Given the description of an element on the screen output the (x, y) to click on. 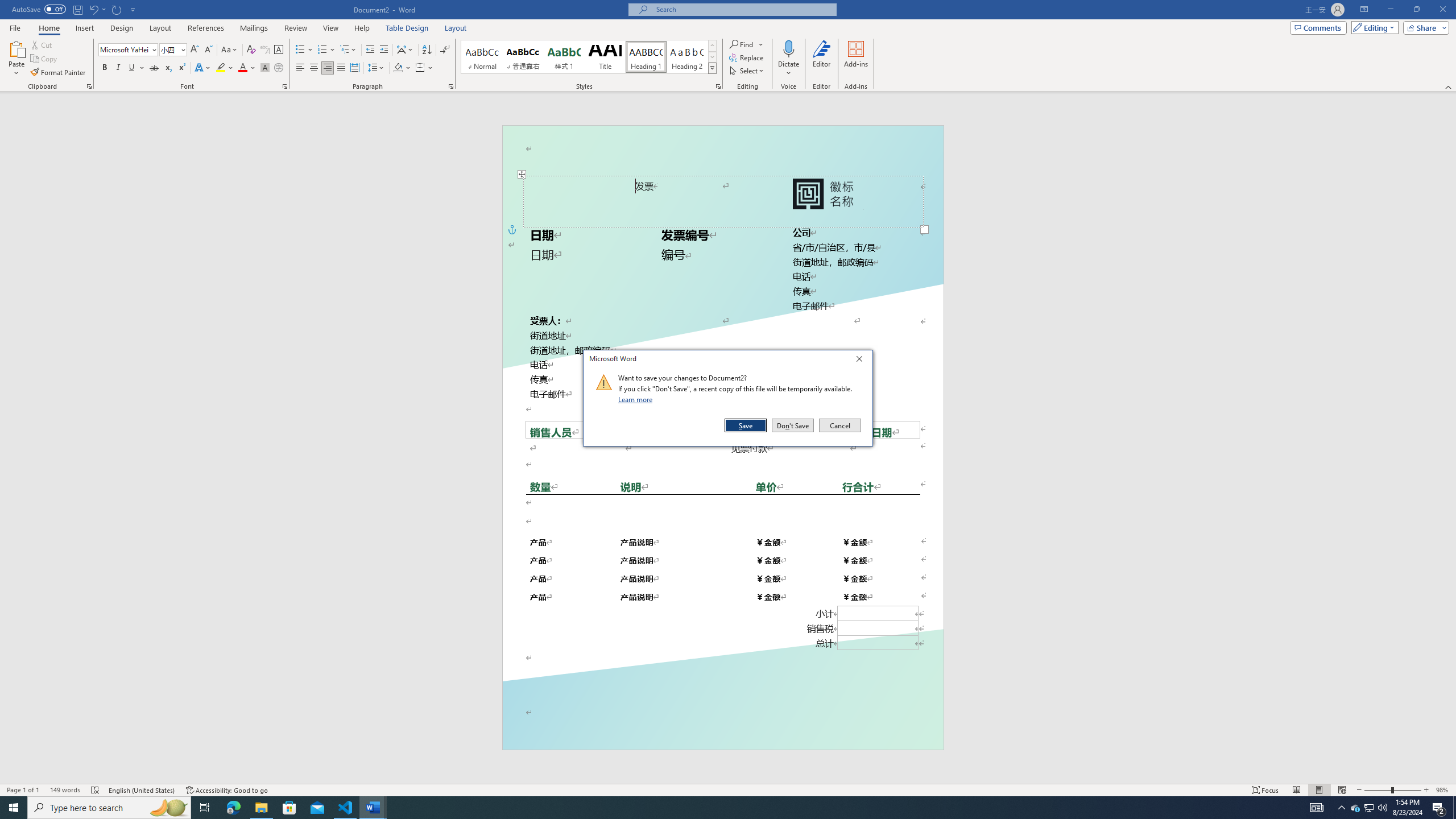
Don't Save (792, 425)
